Given the description of an element on the screen output the (x, y) to click on. 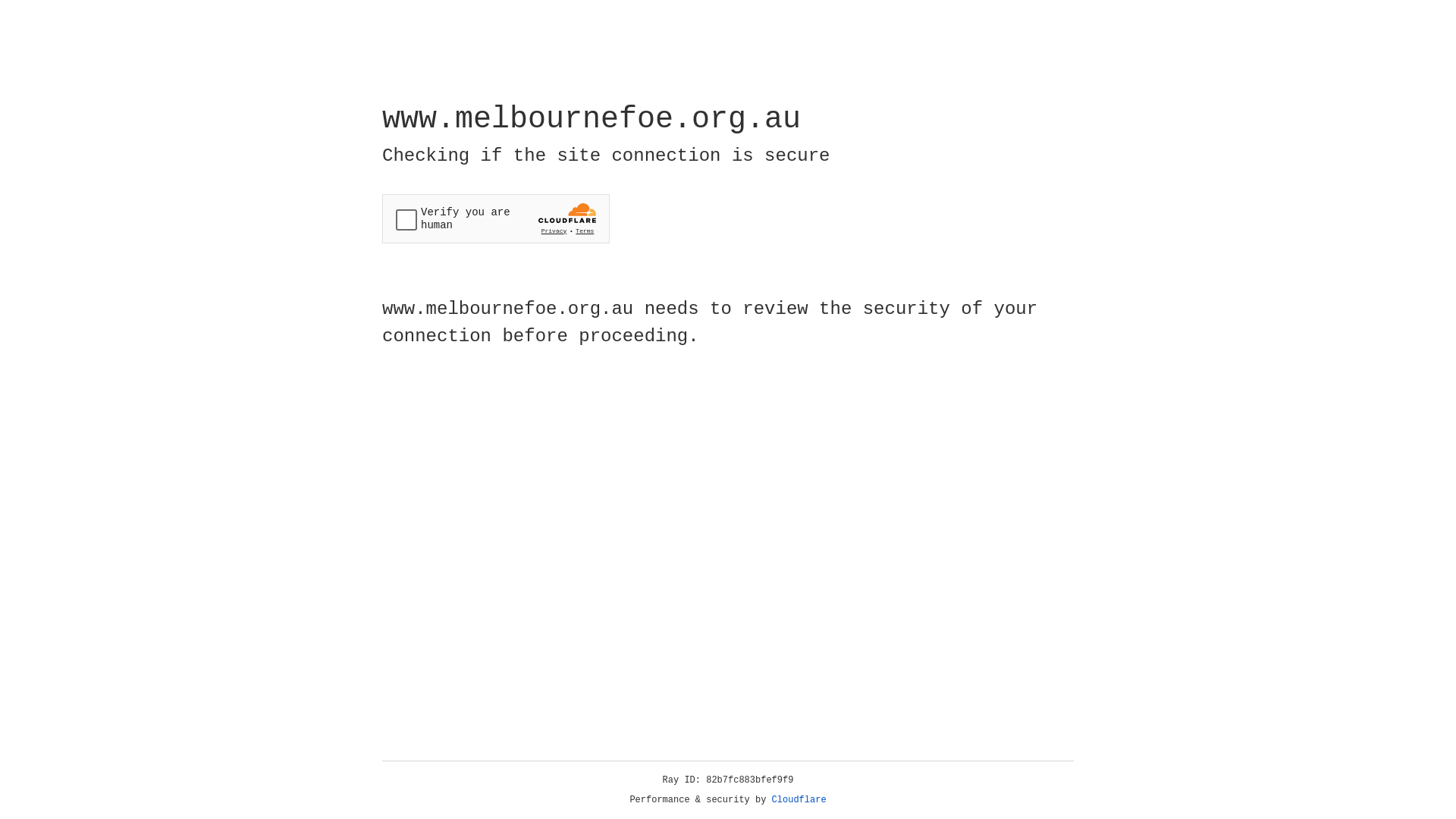
Cloudflare Element type: text (798, 799)
Widget containing a Cloudflare security challenge Element type: hover (495, 218)
